Given the description of an element on the screen output the (x, y) to click on. 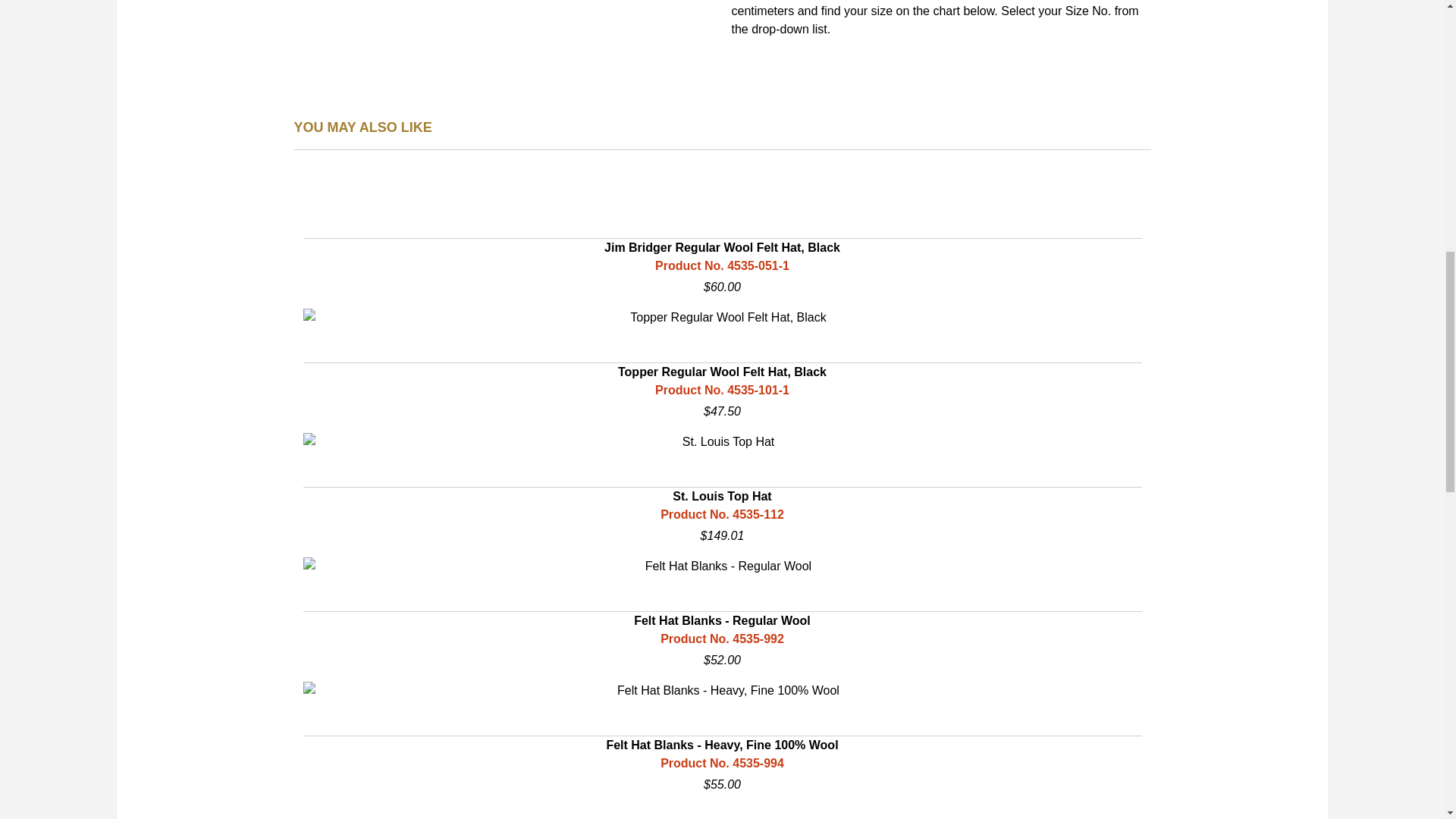
Felt Hat Blanks - Regular Wool (721, 566)
Topper Regular Wool Felt Hat, Black (721, 364)
St. Louis Top Hat (721, 442)
Felt Hat Blanks - Regular Wool (721, 613)
Topper Regular Wool Felt Hat, Black (721, 317)
St. Louis Top Hat (721, 489)
